Given the description of an element on the screen output the (x, y) to click on. 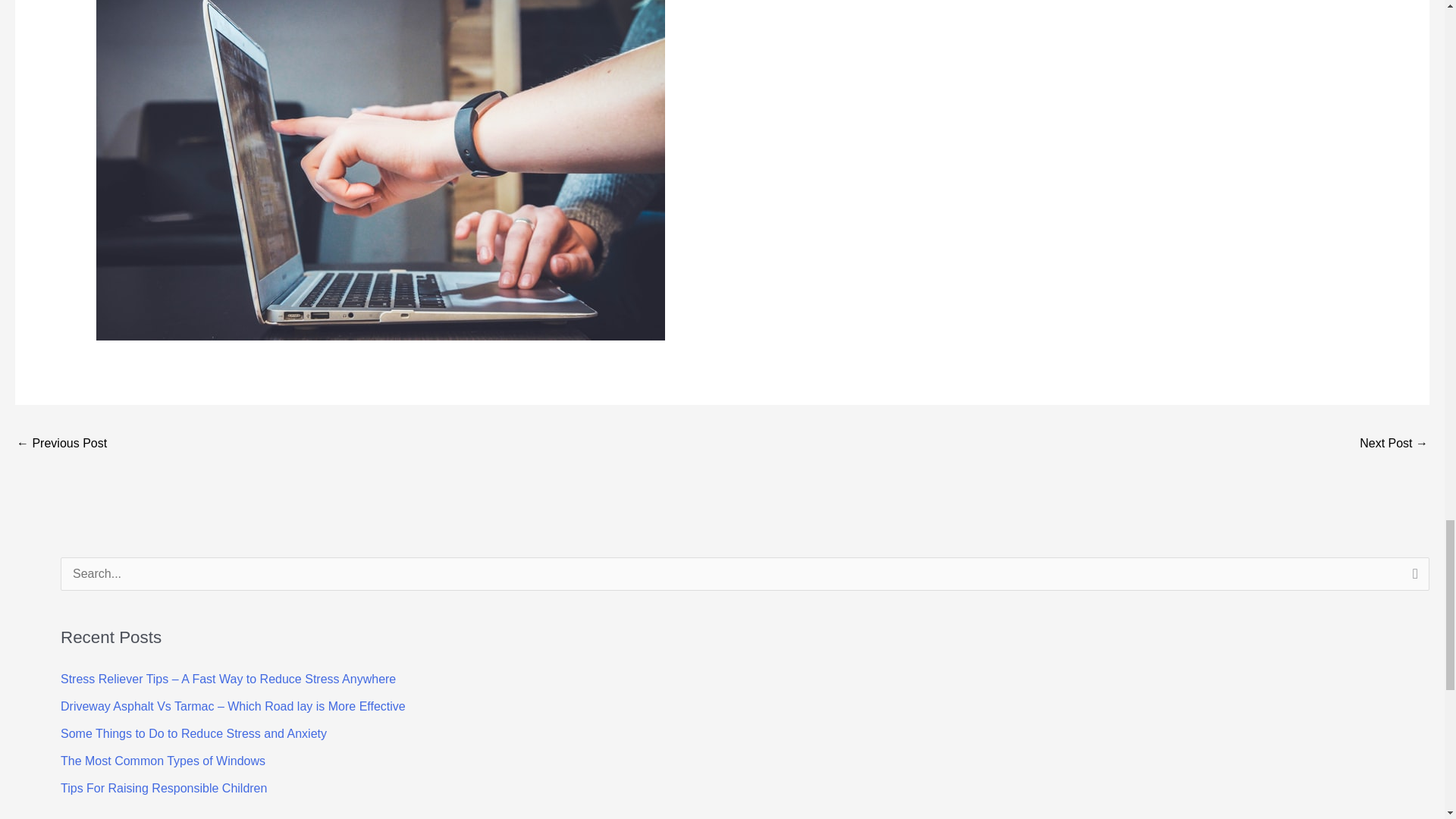
Tips For Raising Responsible Children (163, 788)
The Science Behind Blue Light Glasses (1393, 444)
Book Review - The Science Of Music (61, 444)
The Most Common Types of Windows (162, 760)
Some Things to Do to Reduce Stress and Anxiety (193, 733)
